Given the description of an element on the screen output the (x, y) to click on. 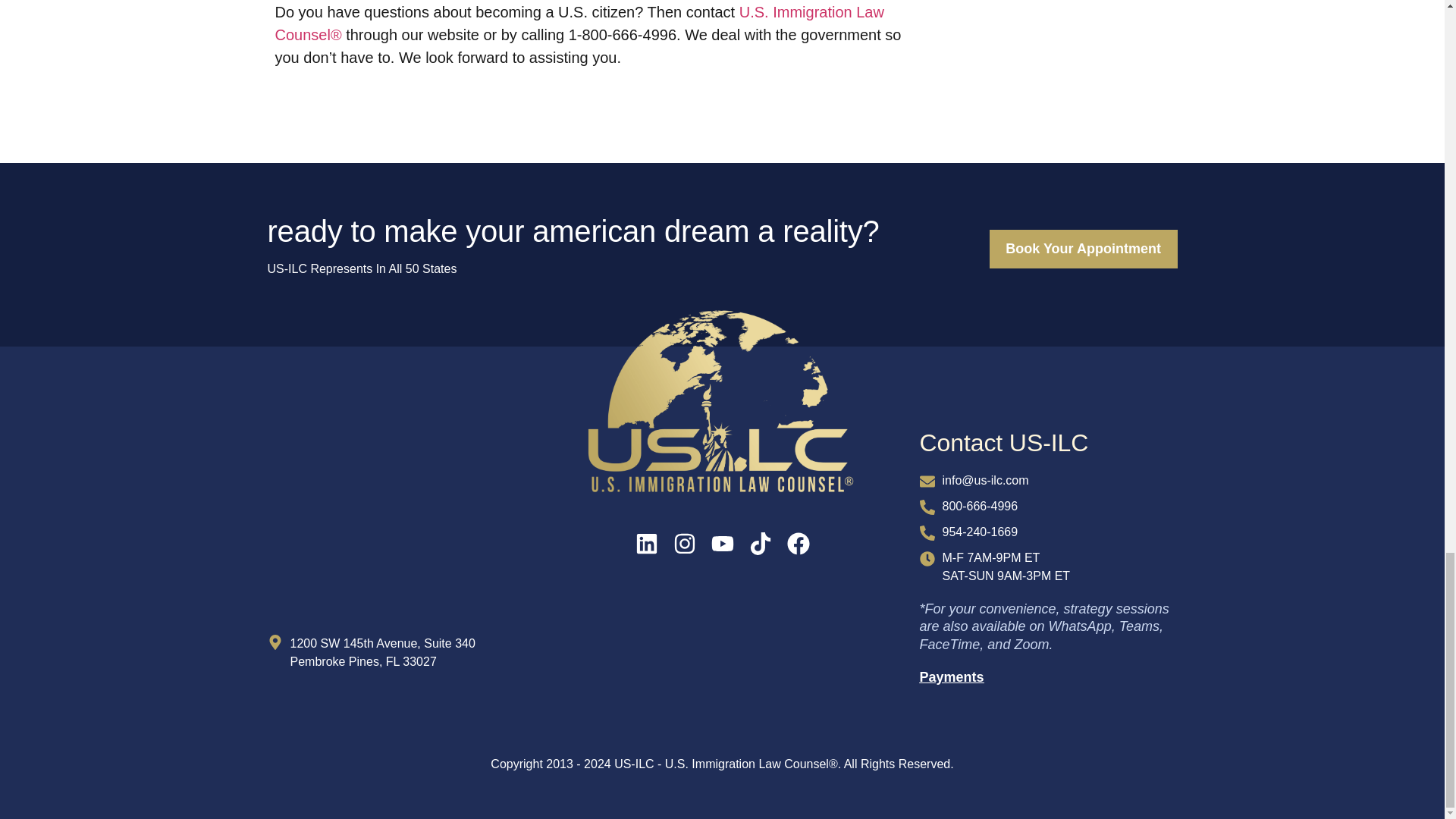
Florida Immigration Law Counsel (395, 532)
